Given the description of an element on the screen output the (x, y) to click on. 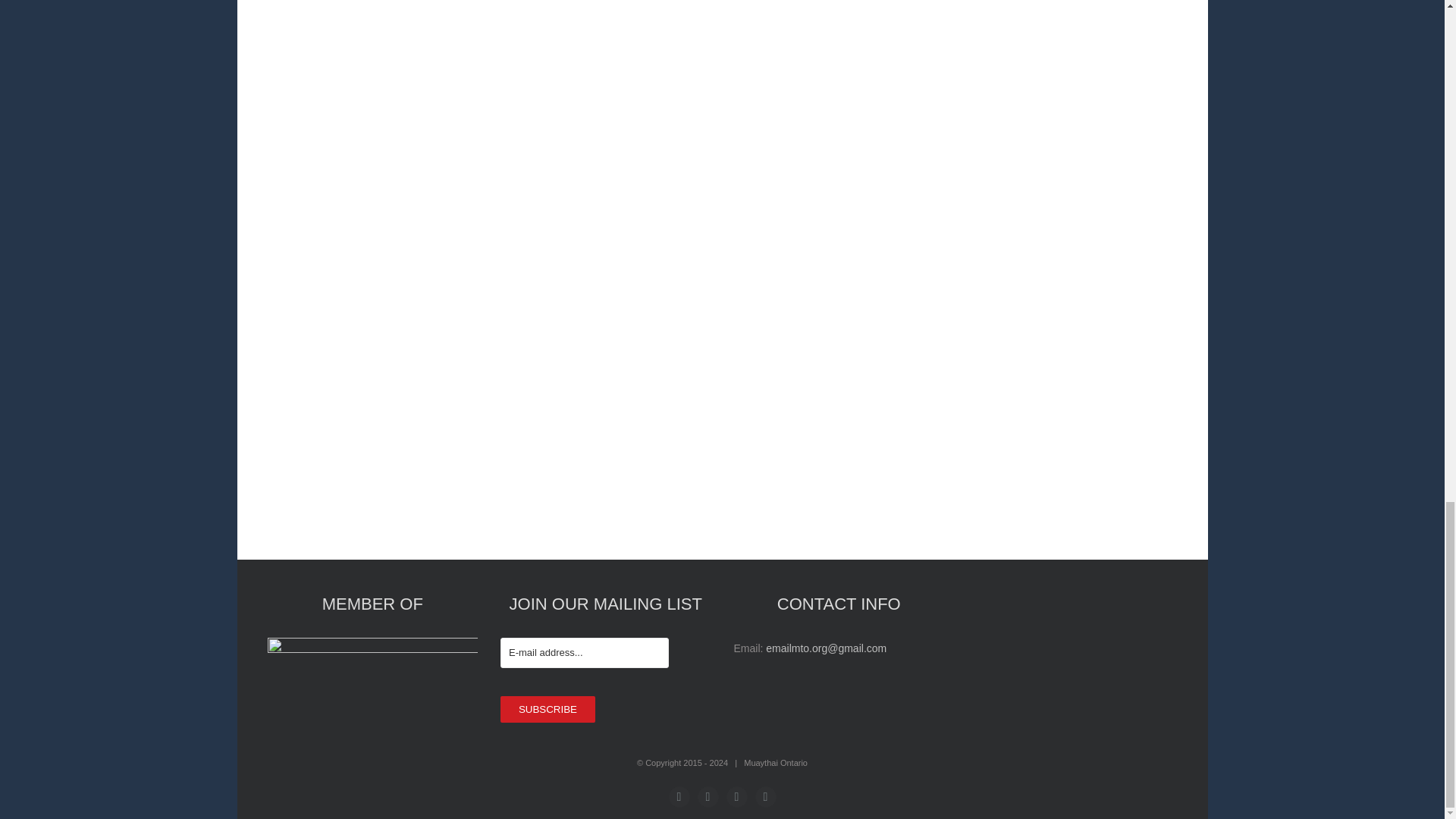
Facebook (679, 796)
SUBSCRIBE (547, 709)
